Given the description of an element on the screen output the (x, y) to click on. 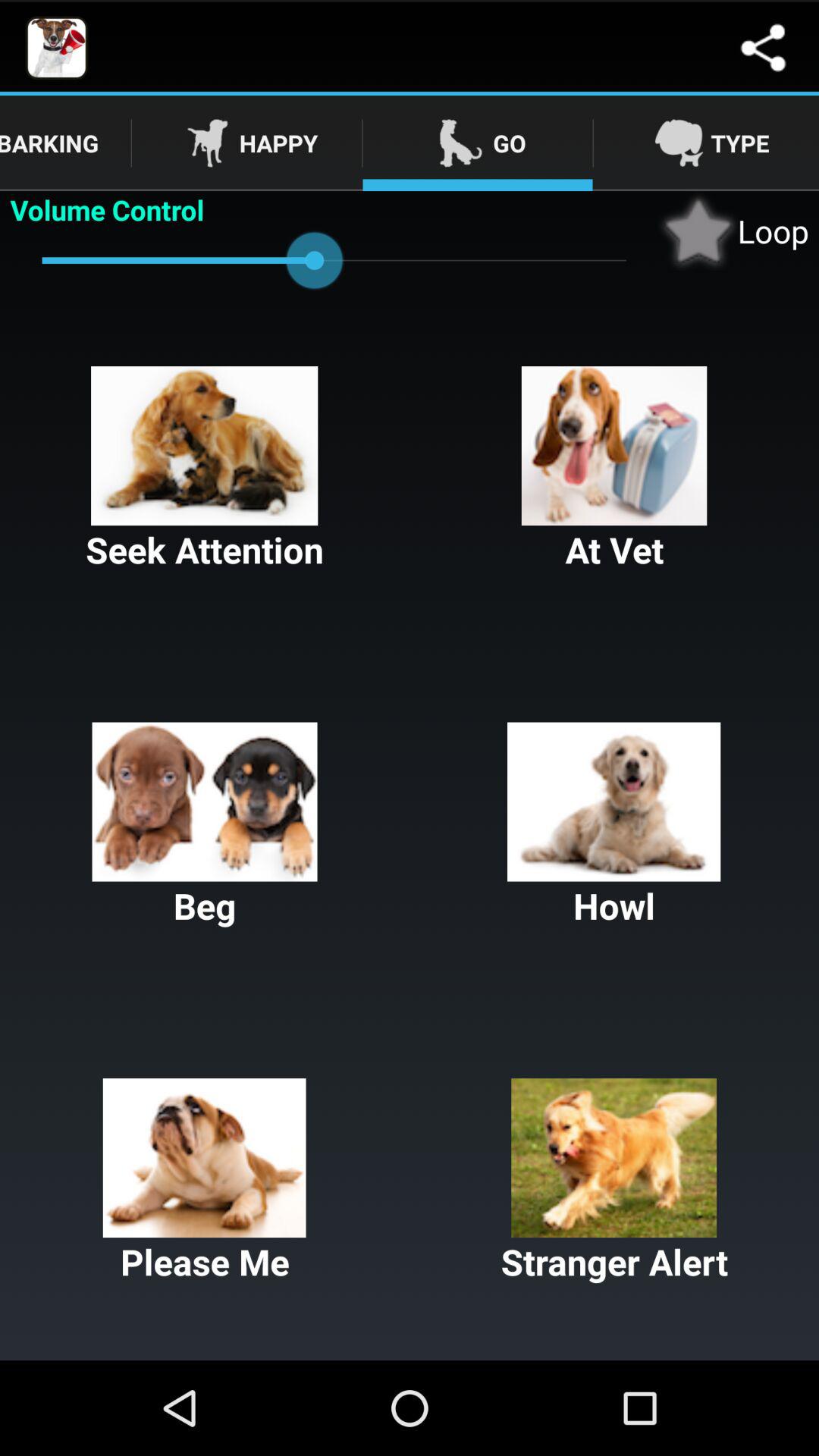
jump until the beg (204, 825)
